Given the description of an element on the screen output the (x, y) to click on. 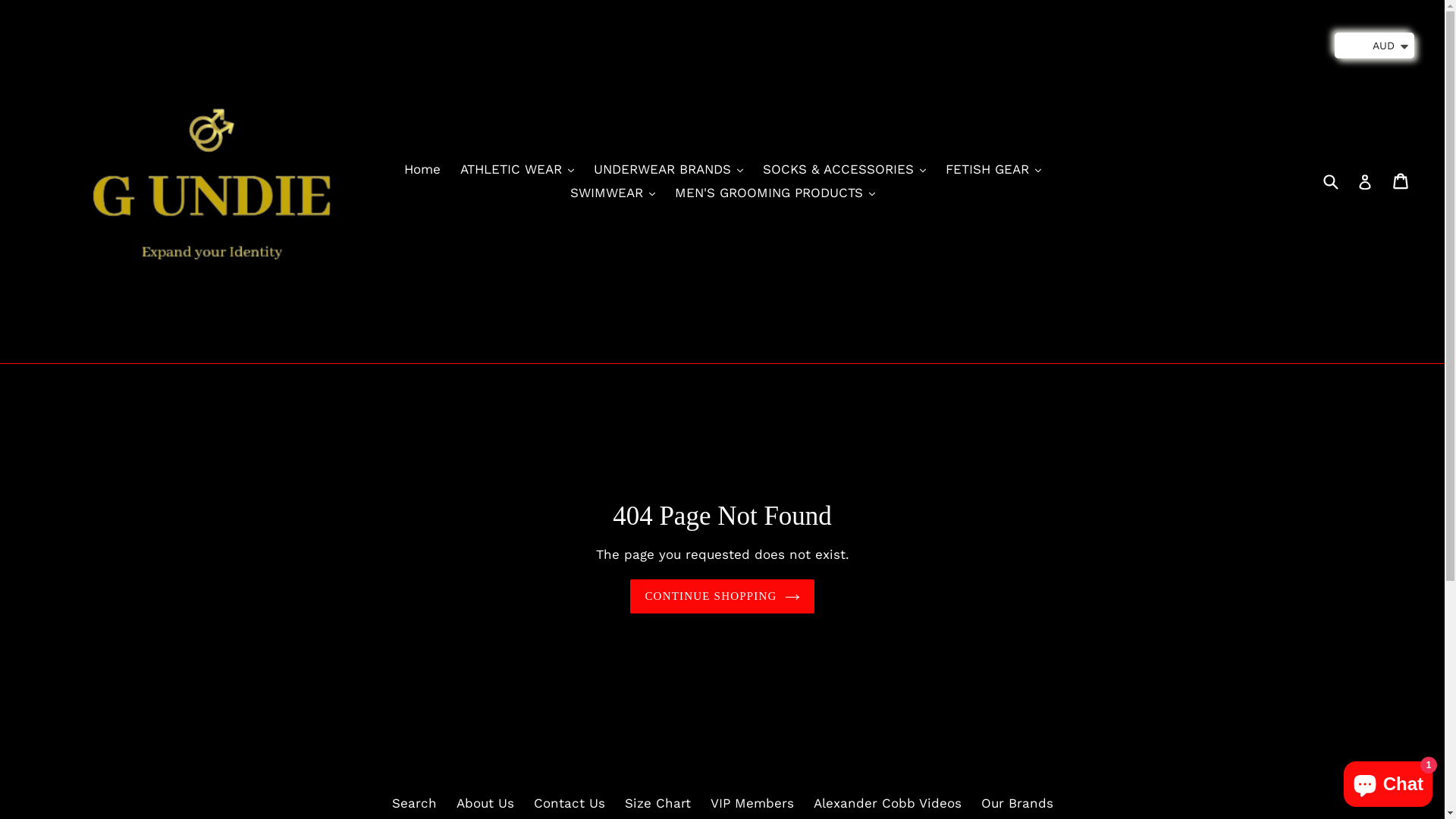
Our Brands Element type: text (1017, 802)
Home Element type: text (421, 169)
Cart
Cart Element type: text (1401, 180)
About Us Element type: text (485, 802)
VIP Members Element type: text (751, 802)
Shopify online store chat Element type: hover (1388, 780)
Alexander Cobb Videos Element type: text (886, 802)
Search Element type: text (413, 802)
CONTINUE SHOPPING Element type: text (721, 596)
Submit Element type: text (1329, 181)
Size Chart Element type: text (657, 802)
Contact Us Element type: text (569, 802)
Log in Element type: text (1364, 181)
